Given the description of an element on the screen output the (x, y) to click on. 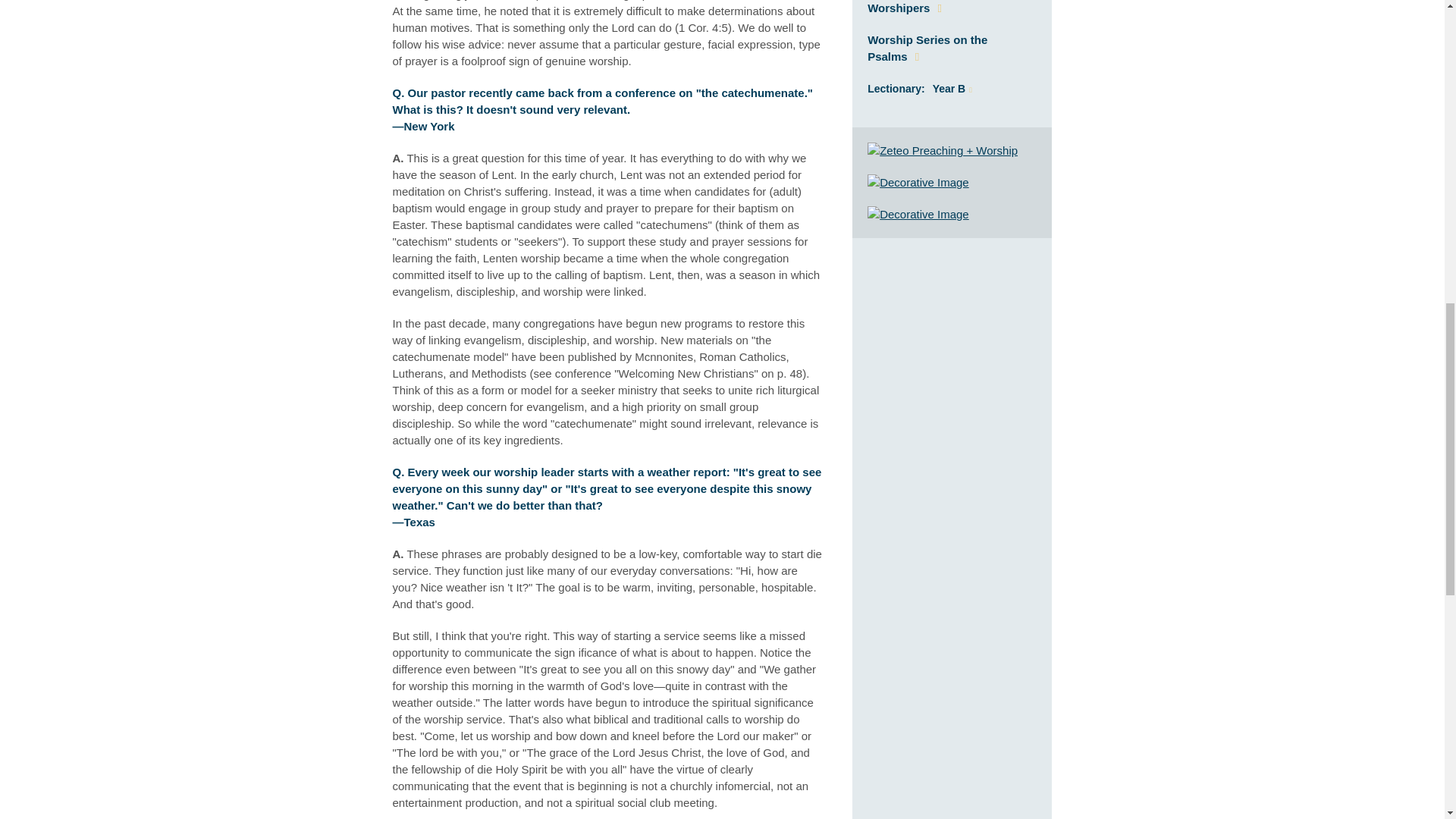
Year B (952, 88)
Worship Series on the Psalms (927, 48)
Sabbath-Keeping for Lead Worshipers (938, 7)
